Given the description of an element on the screen output the (x, y) to click on. 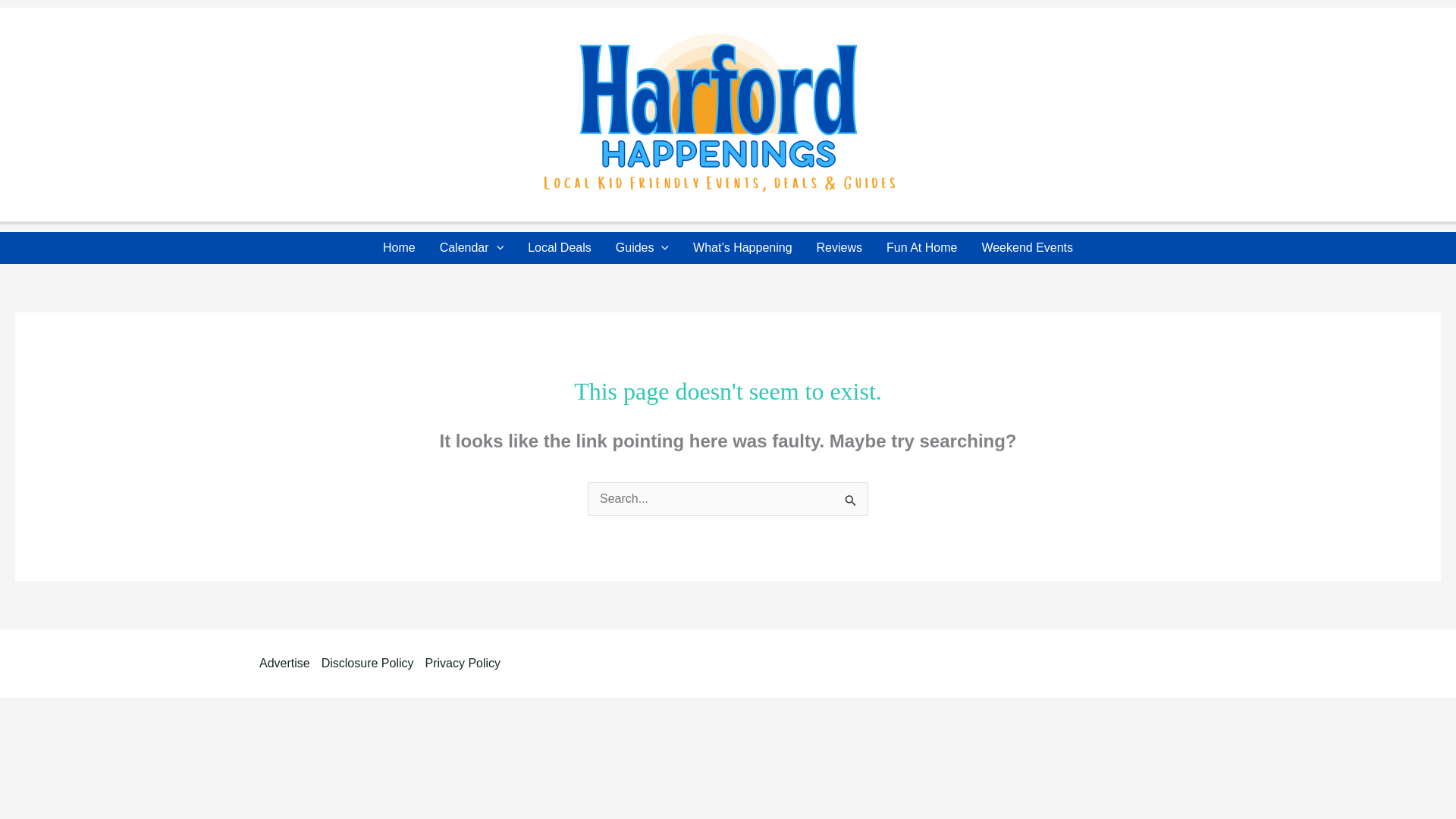
Fun At Home (922, 247)
Local Deals (559, 247)
Advertise (290, 662)
Calendar (472, 247)
Weekend Events (1026, 247)
Disclosure Policy (373, 662)
Guides (642, 247)
Reviews (840, 247)
Home (399, 247)
